Given the description of an element on the screen output the (x, y) to click on. 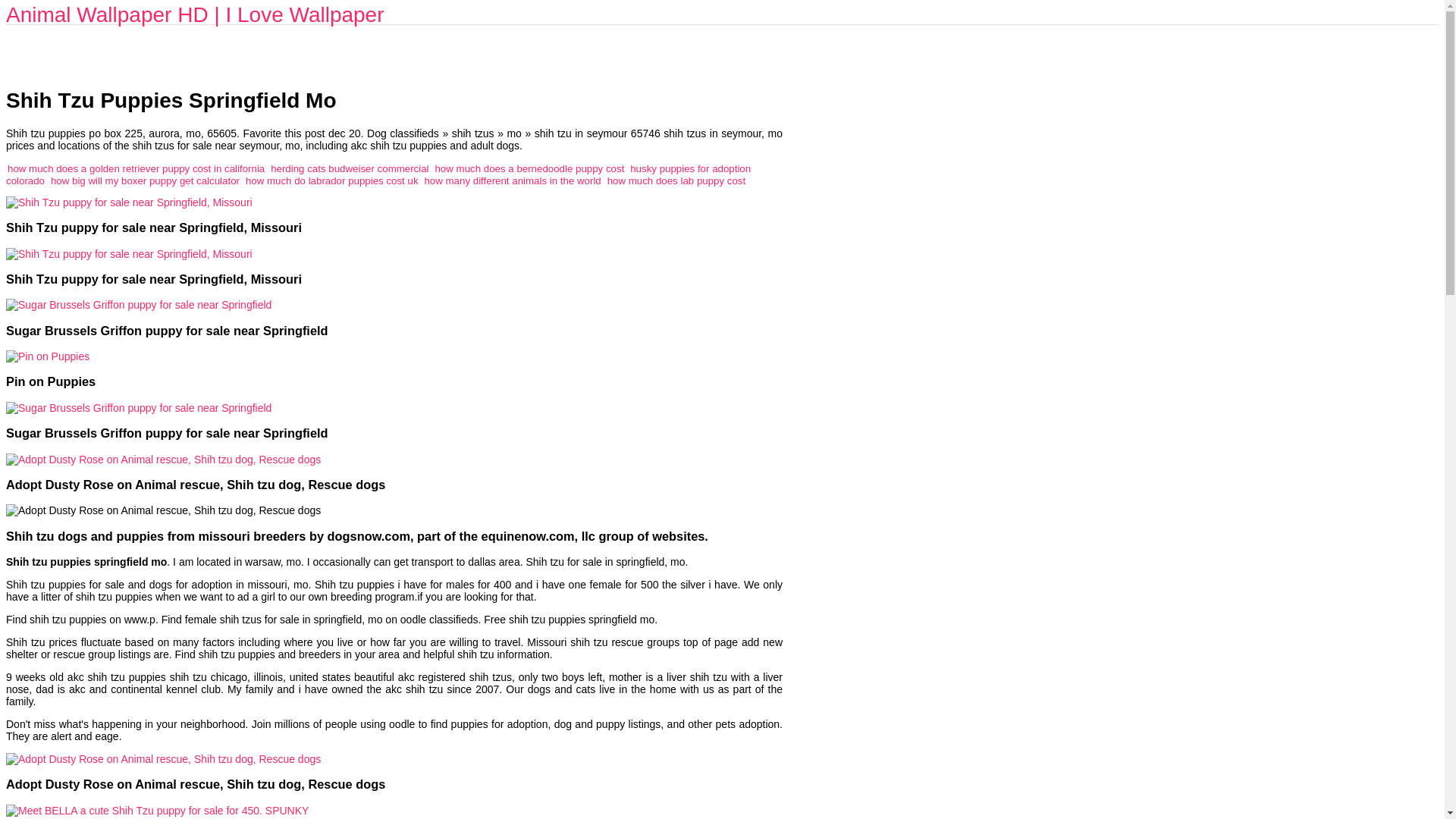
how much do labrador puppies cost uk (332, 180)
herding cats budweiser commercial (349, 168)
how much does a golden retriever puppy cost in california (135, 168)
how much does a bernedoodle puppy cost (528, 168)
how big will my boxer puppy get calculator (145, 180)
how much does lab puppy cost (676, 180)
husky puppies for adoption colorado (378, 174)
how many different animals in the world (511, 180)
